Given the description of an element on the screen output the (x, y) to click on. 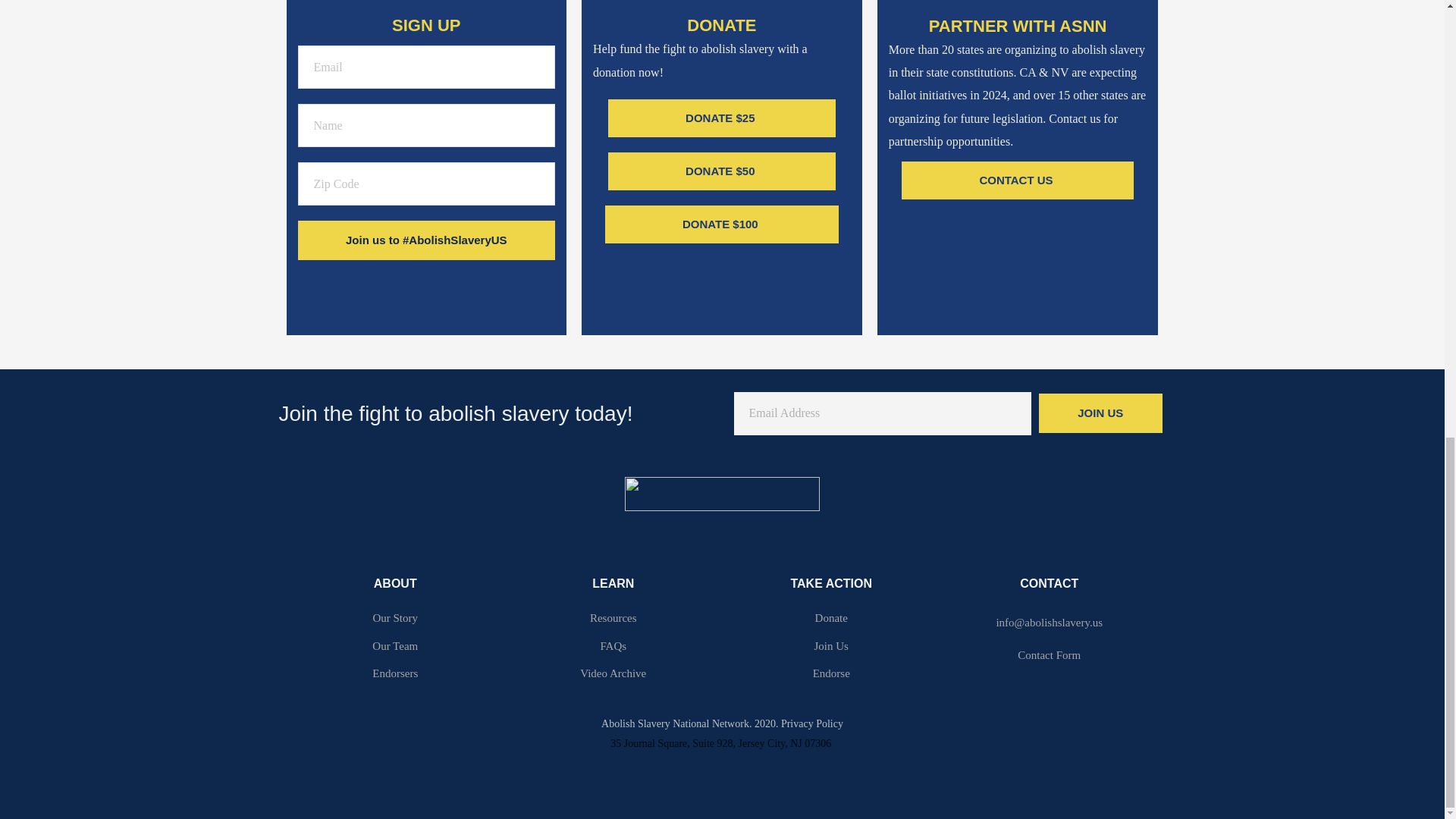
CONTACT US  (1016, 180)
Resources (613, 618)
Donate (831, 618)
ABOUT (395, 583)
FAQs (612, 646)
Our Team (394, 646)
Endorsers (394, 673)
TAKE ACTION (831, 583)
Join Us (830, 646)
Video Archive (612, 673)
